Given the description of an element on the screen output the (x, y) to click on. 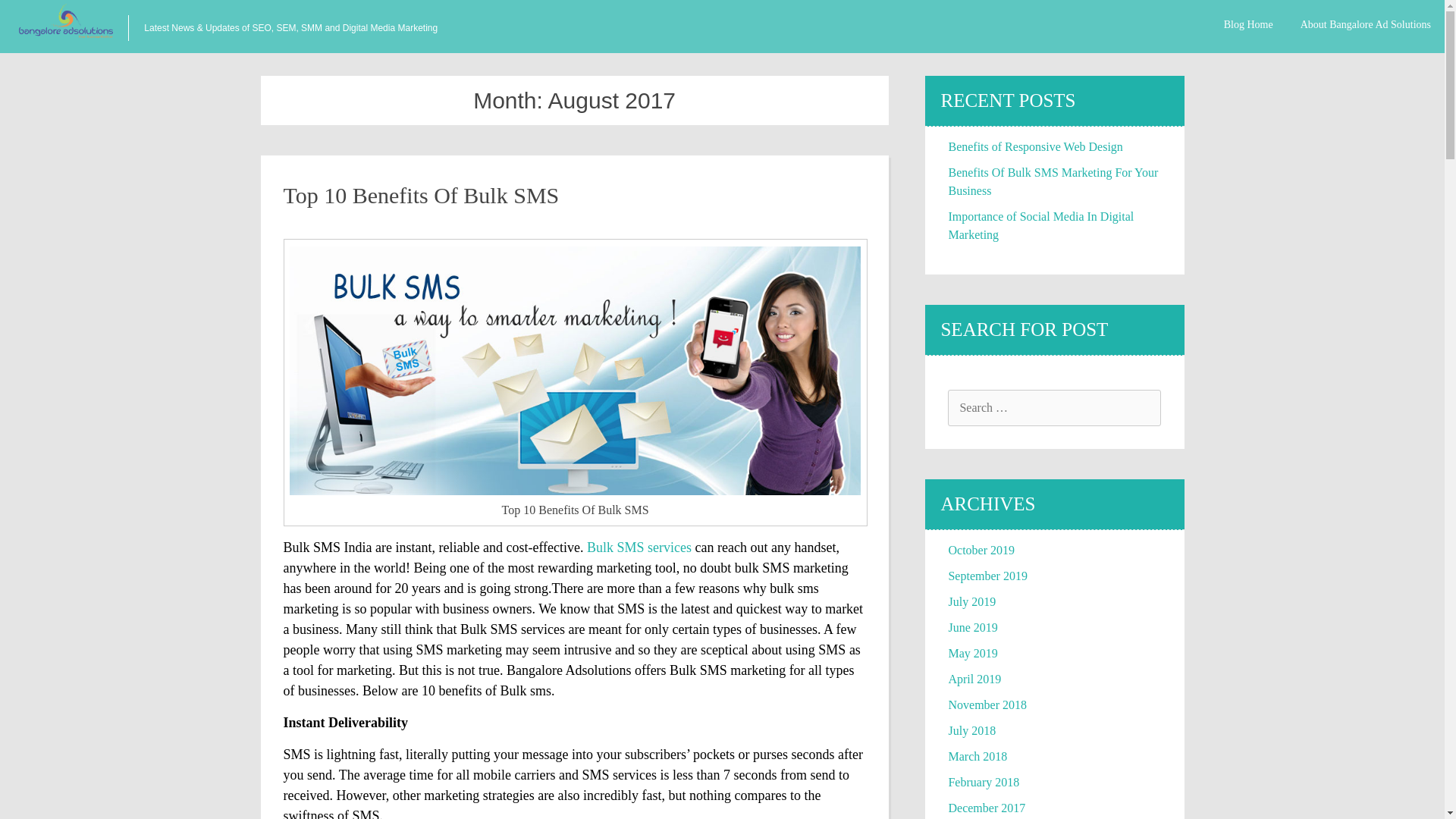
Bangalore Adsolutions (568, 670)
November 2018 (986, 704)
Benefits Of Bulk SMS Marketing For Your Business (1052, 181)
December 2017 (986, 807)
May 2019 (972, 653)
July 2018 (971, 730)
Blog Home (1248, 24)
October 2019 (980, 549)
February 2018 (983, 781)
April 2019 (974, 678)
March 2018 (977, 756)
Importance of Social Media In Digital Marketing (1040, 224)
Top 10 Benefits Of Bulk SMS (421, 195)
June 2019 (972, 626)
Search (26, 12)
